Given the description of an element on the screen output the (x, y) to click on. 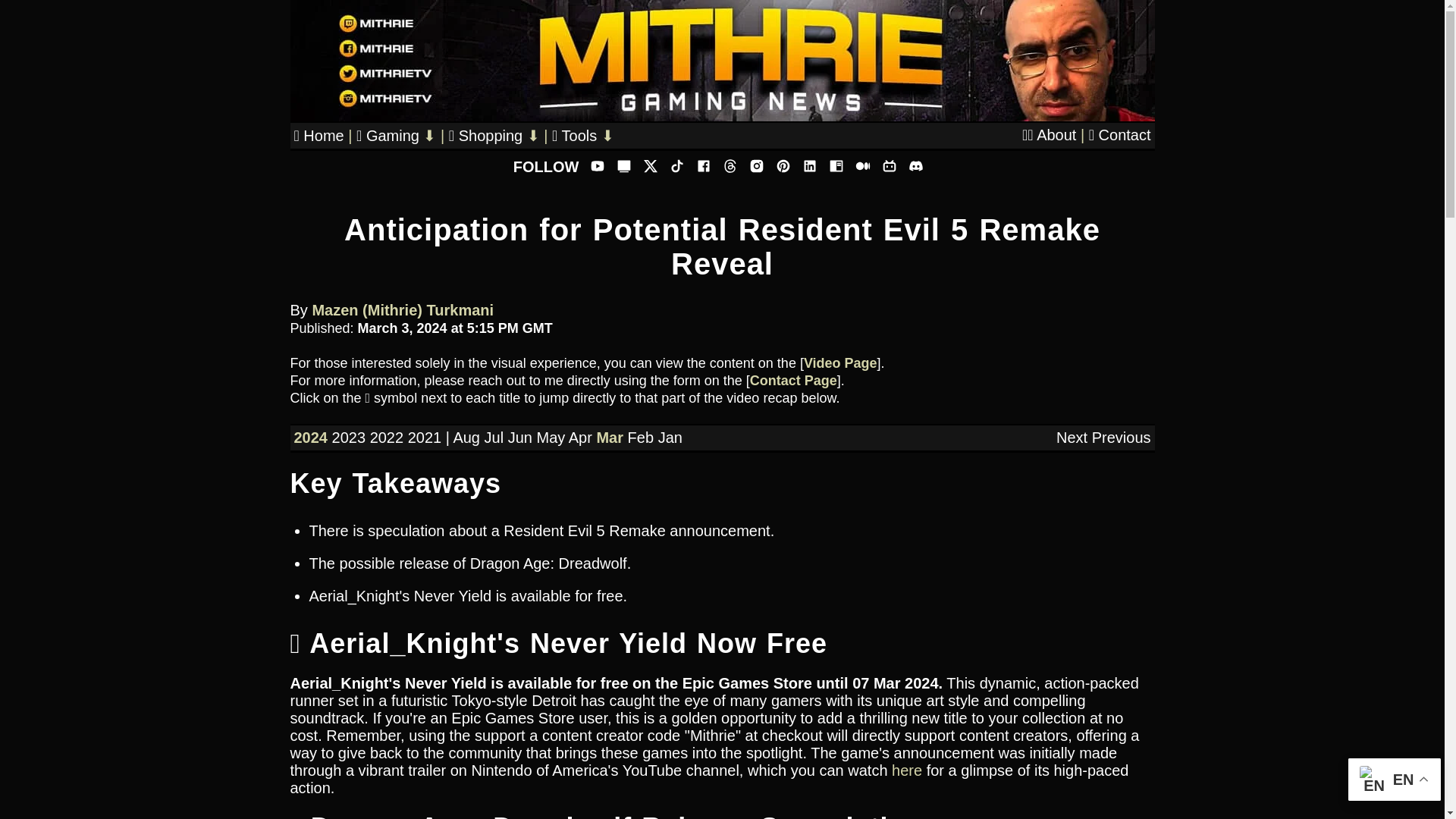
2022 (386, 437)
Contact Page (793, 380)
Video Page (840, 363)
2023 (348, 437)
2021 (424, 437)
Aug (466, 437)
